Given the description of an element on the screen output the (x, y) to click on. 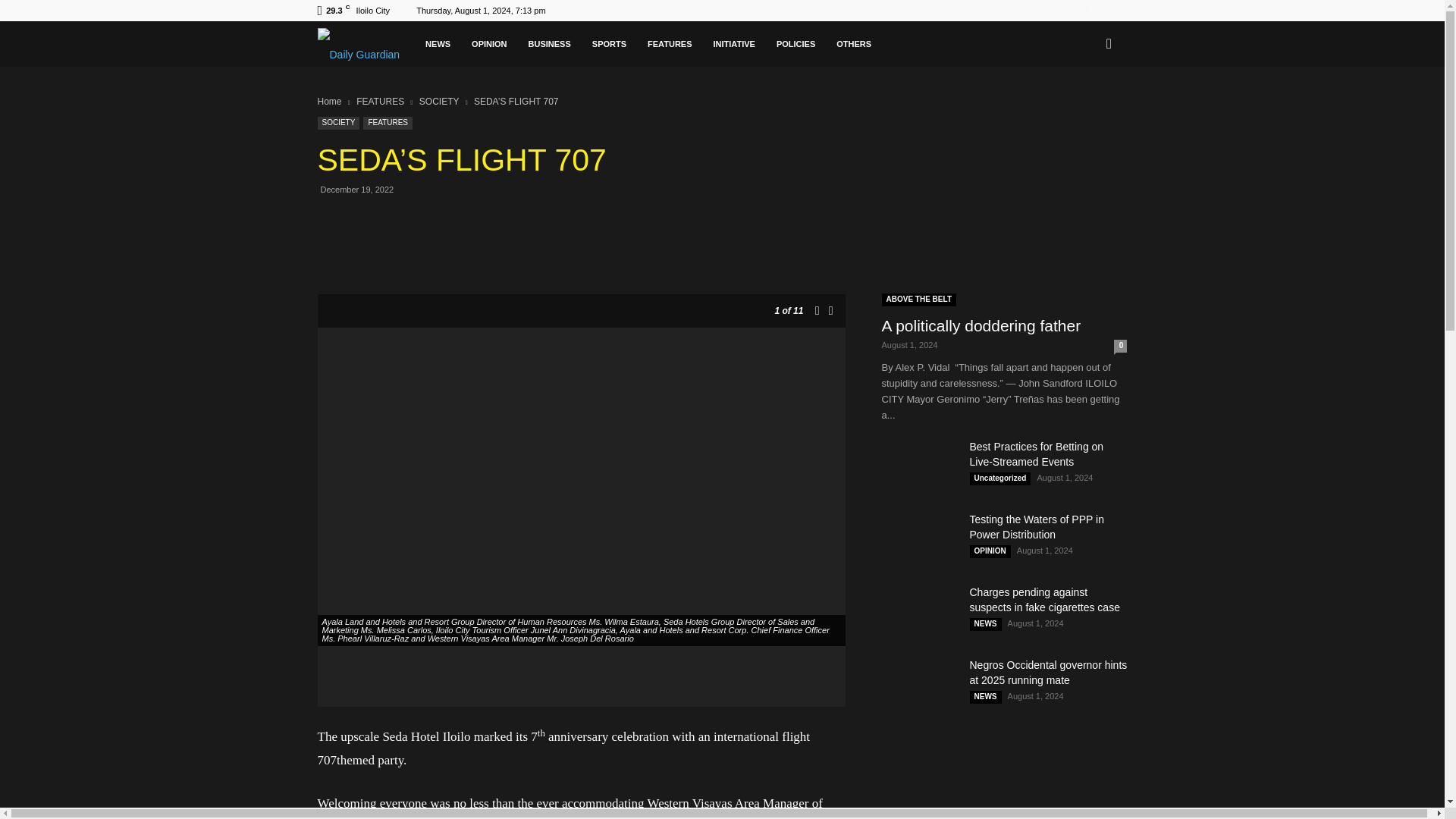
Daily Guardian (427, 47)
Twitter (1114, 10)
We write, you decide. (419, 48)
Facebook (1090, 10)
NEWS (561, 43)
